Given the description of an element on the screen output the (x, y) to click on. 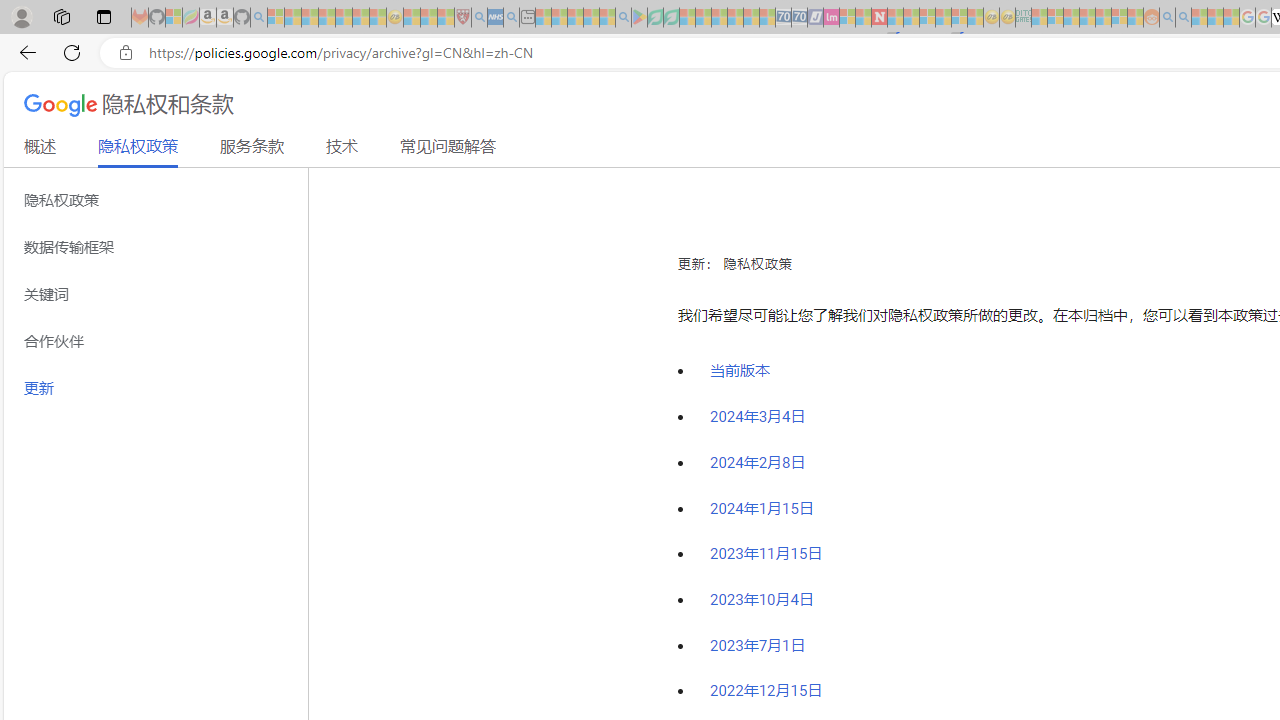
New Report Confirms 2023 Was Record Hot | Watch - Sleeping (343, 17)
New tab - Sleeping (527, 17)
Robert H. Shmerling, MD - Harvard Health - Sleeping (462, 17)
Microsoft-Report a Concern to Bing - Sleeping (173, 17)
Trusted Community Engagement and Contributions | Guidelines (895, 17)
Latest Politics News & Archive | Newsweek.com - Sleeping (879, 17)
